Given the description of an element on the screen output the (x, y) to click on. 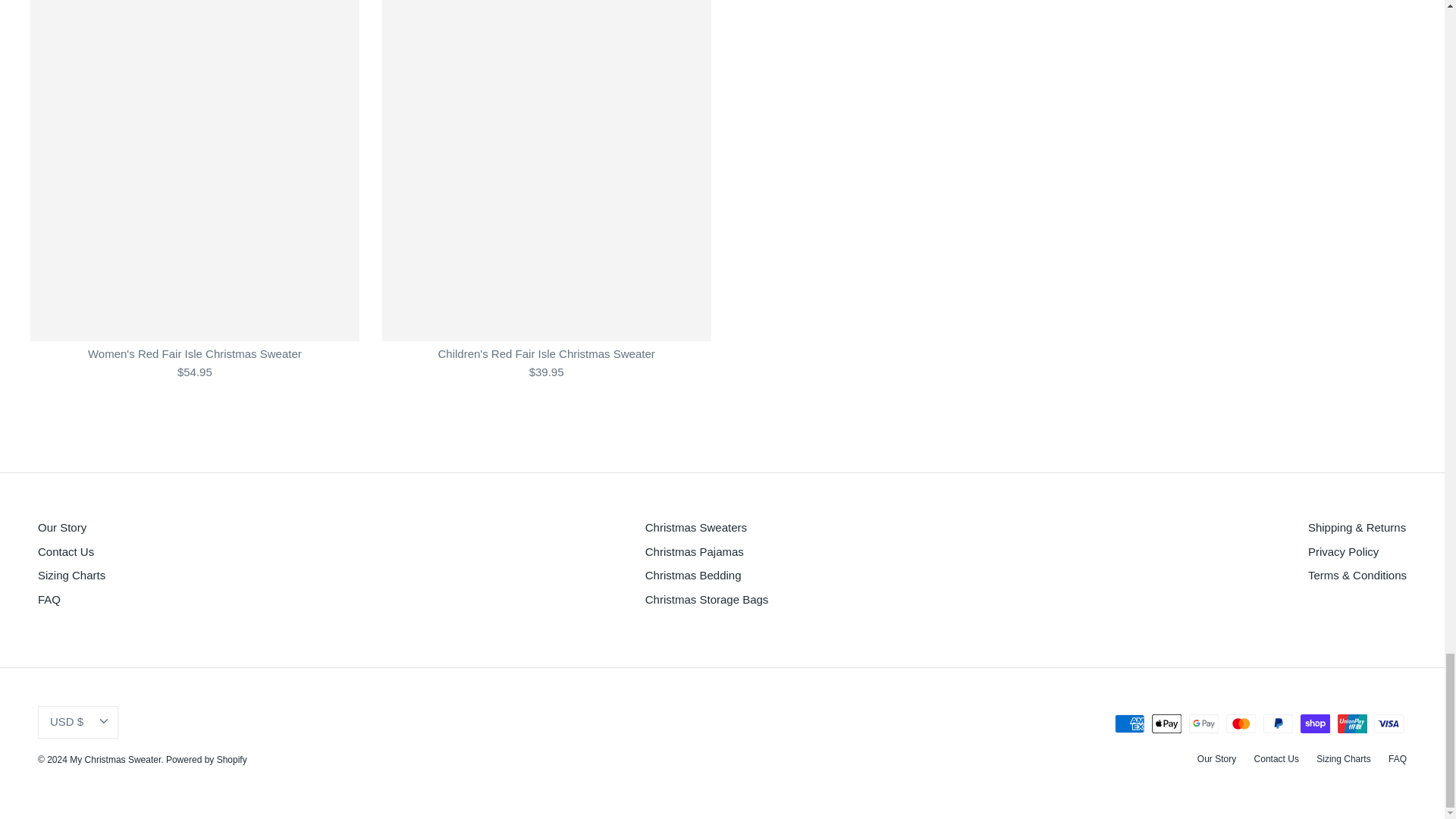
Apple Pay (1166, 723)
American Express (1129, 723)
PayPal (1277, 723)
Google Pay (1203, 723)
Visa (1388, 723)
Down (103, 721)
Mastercard (1240, 723)
Shop Pay (1315, 723)
Union Pay (1352, 723)
